Given the description of an element on the screen output the (x, y) to click on. 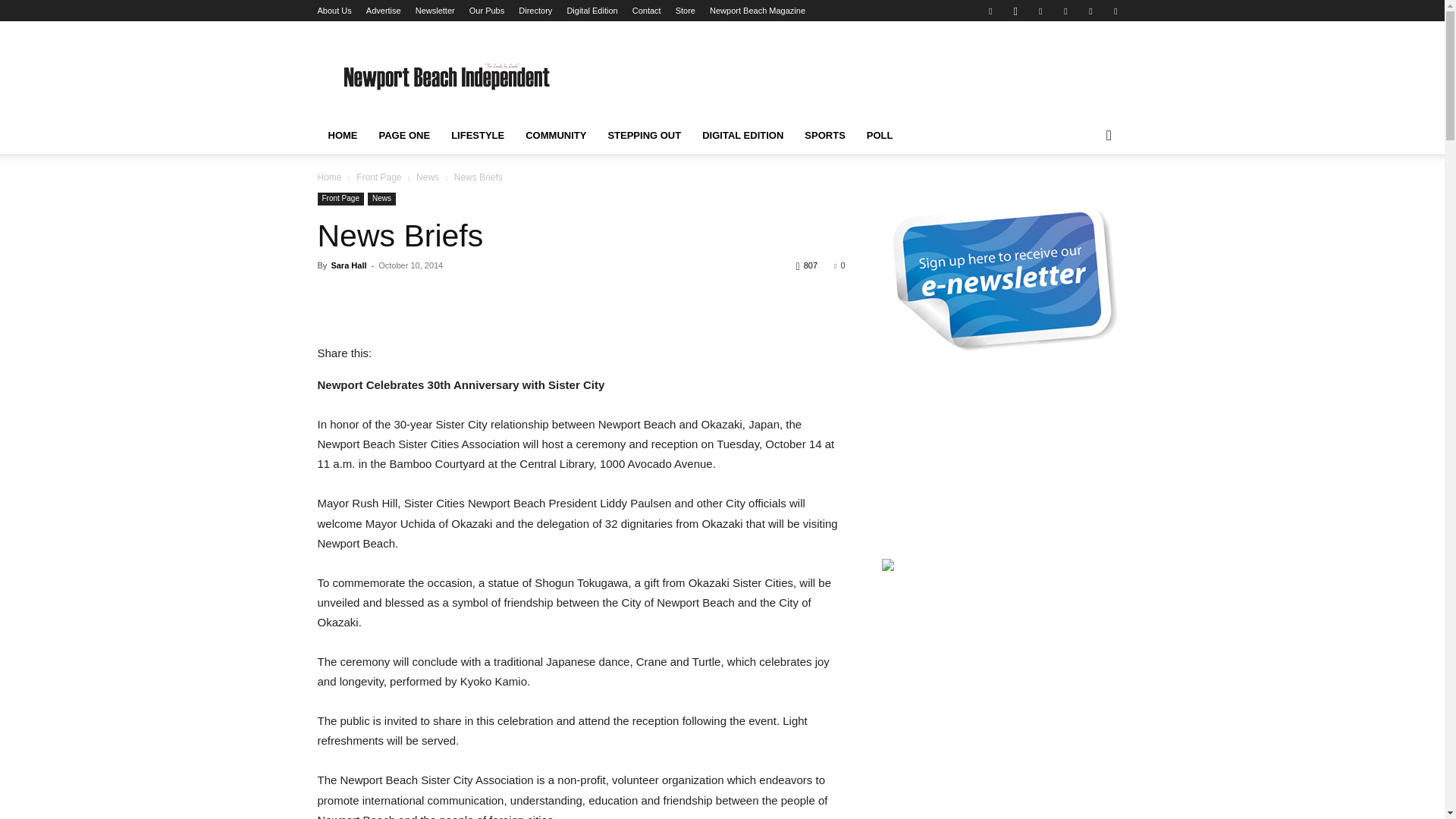
Twitter (1114, 10)
Mail (1065, 10)
Facebook (989, 10)
Instagram (1015, 10)
RSS (1090, 10)
Linkedin (1040, 10)
